Given the description of an element on the screen output the (x, y) to click on. 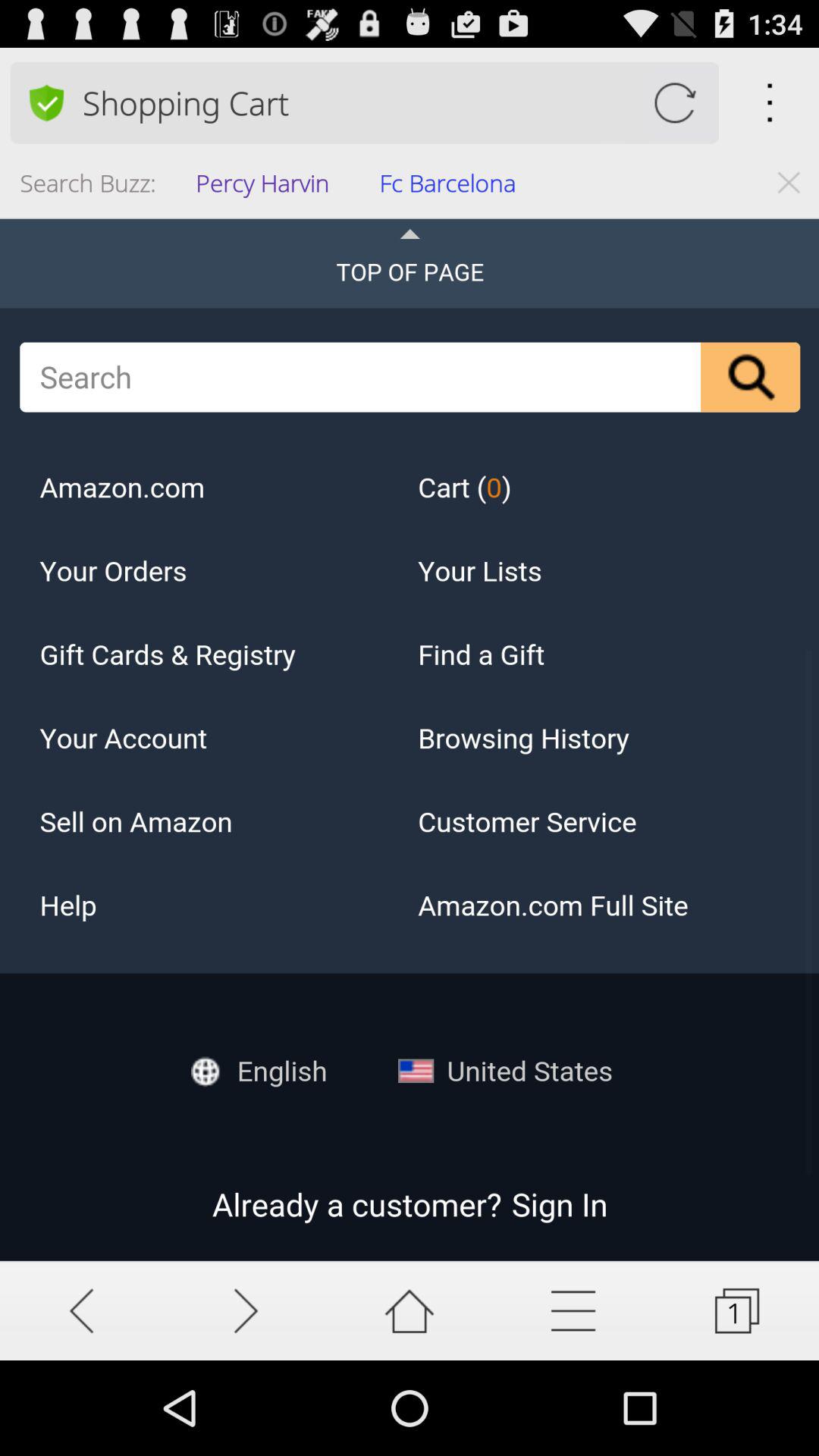
press item above the search buzz: icon (46, 102)
